Given the description of an element on the screen output the (x, y) to click on. 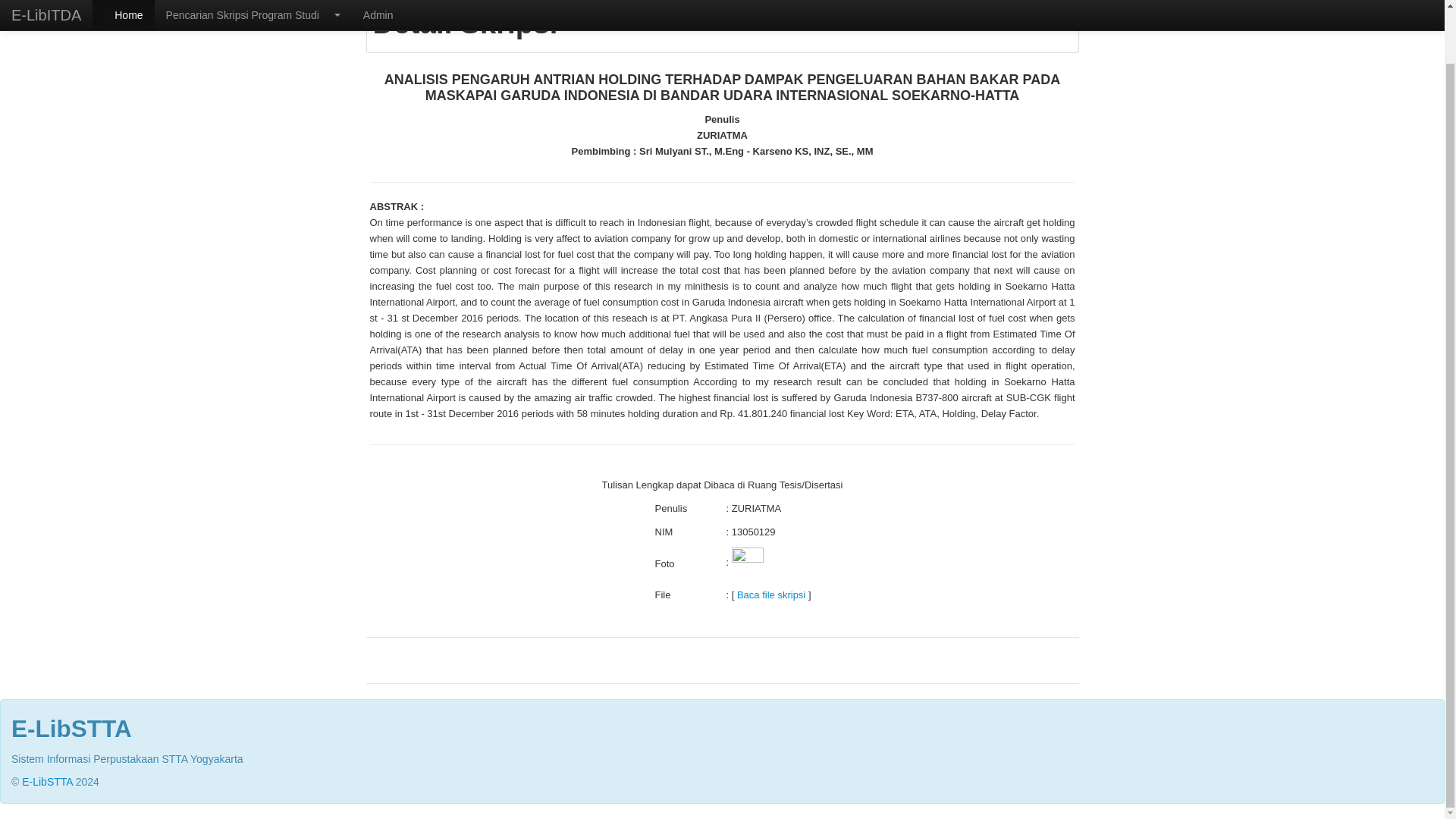
E-LibSTTA (46, 781)
Baca file skripsi (770, 594)
